Given the description of an element on the screen output the (x, y) to click on. 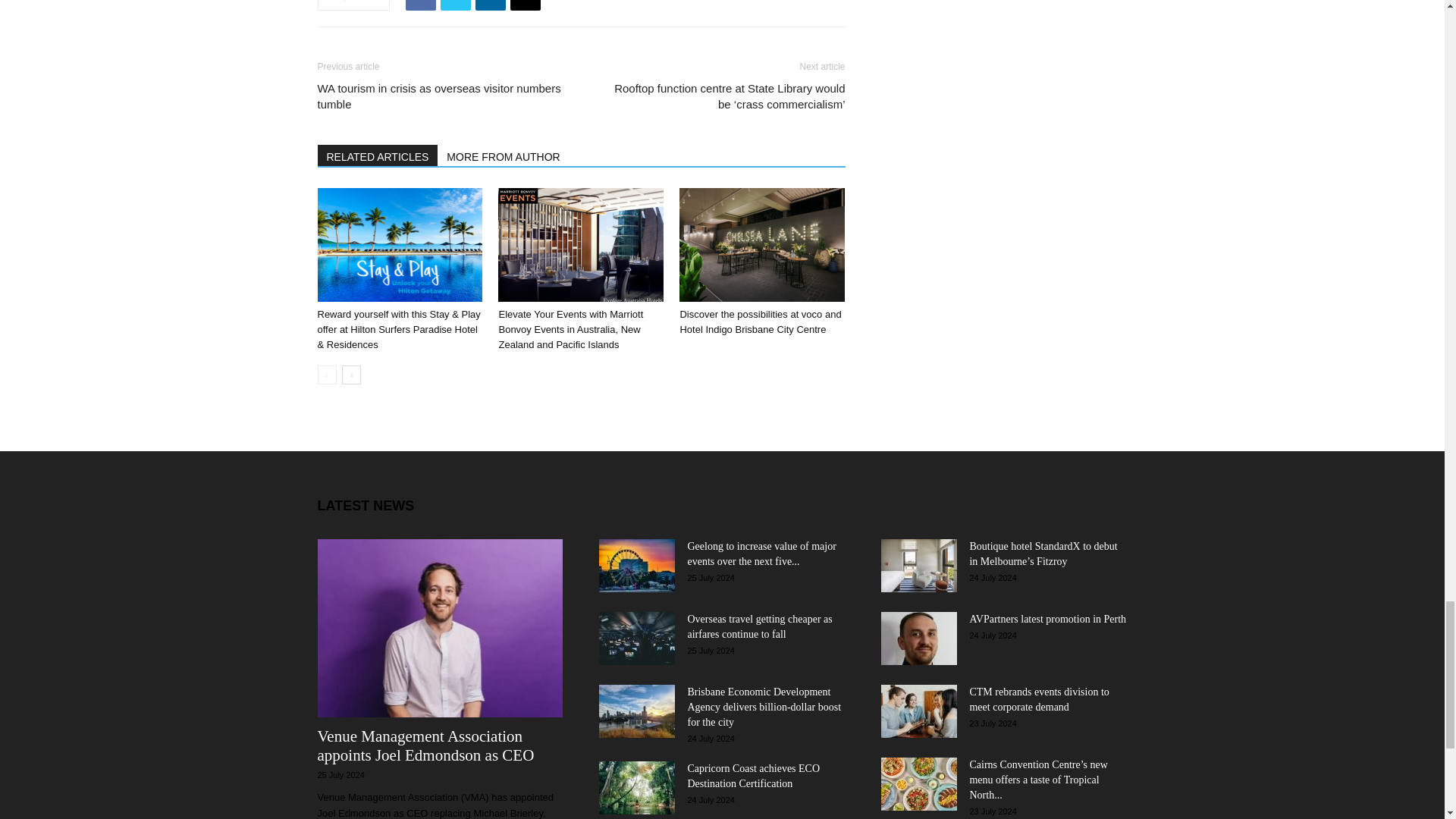
WA tourism in crisis as overseas visitor numbers tumble (439, 96)
RELATED ARTICLES (377, 155)
Twitter (455, 5)
Facebook (420, 5)
MORE FROM AUTHOR (503, 155)
